Given the description of an element on the screen output the (x, y) to click on. 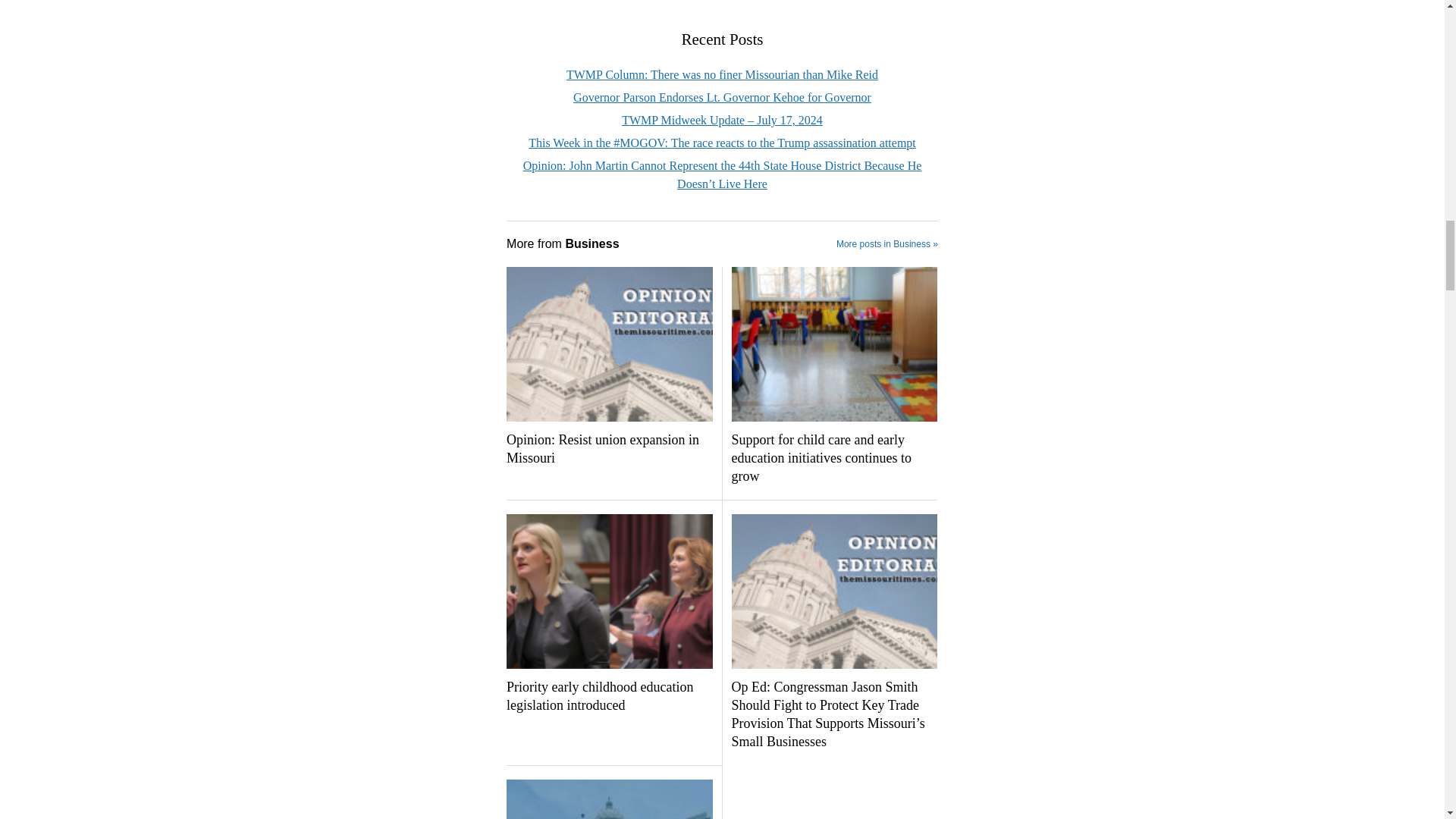
Governor Parson Endorses Lt. Governor Kehoe for Governor (721, 97)
Priority early childhood education legislation introduced (608, 696)
Opinion: Resist union expansion in Missouri (608, 449)
TWMP Column: There was no finer Missourian than Mike Reid (721, 74)
